Given the description of an element on the screen output the (x, y) to click on. 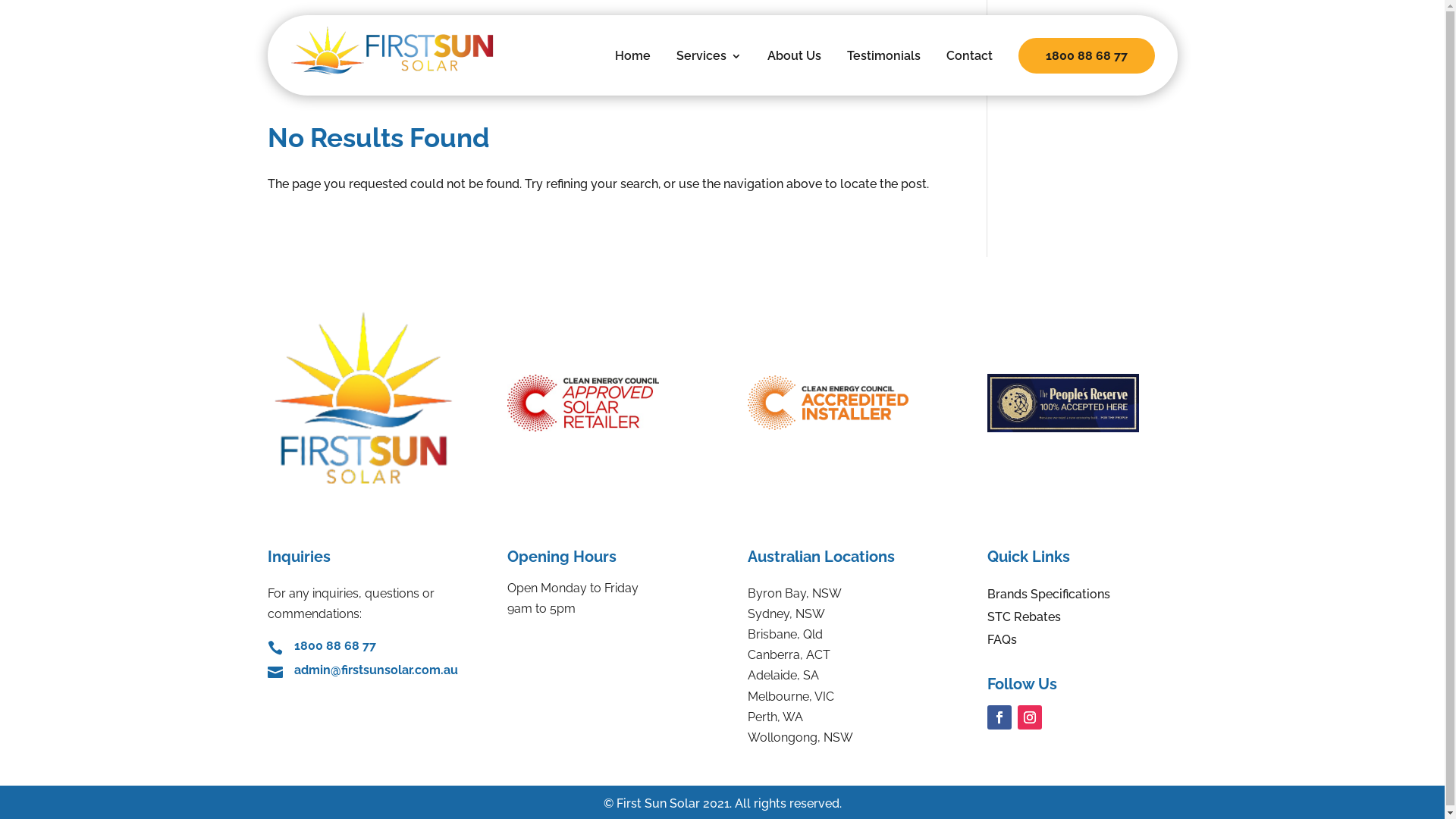
Contact Element type: text (969, 67)
admin@firstsunsolar.com.au Element type: text (376, 669)
Brands Specifications Element type: text (1048, 597)
1800 88 68 77 Element type: text (335, 645)
logo 200 Element type: hover (361, 397)
1800 88 68 77 Element type: text (1085, 55)
Services Element type: text (708, 67)
Home Element type: text (631, 67)
Follow on Instagram Element type: hover (1029, 717)
CEC accredited installer Element type: hover (828, 402)
TPR gold logo Element type: hover (1063, 402)
Follow on Facebook Element type: hover (999, 717)
CEC approved retailer Element type: hover (582, 402)
STC Rebates Element type: text (1023, 619)
Testimonials Element type: text (882, 67)
About Us Element type: text (794, 67)
FAQs Element type: text (1001, 642)
